Given the description of an element on the screen output the (x, y) to click on. 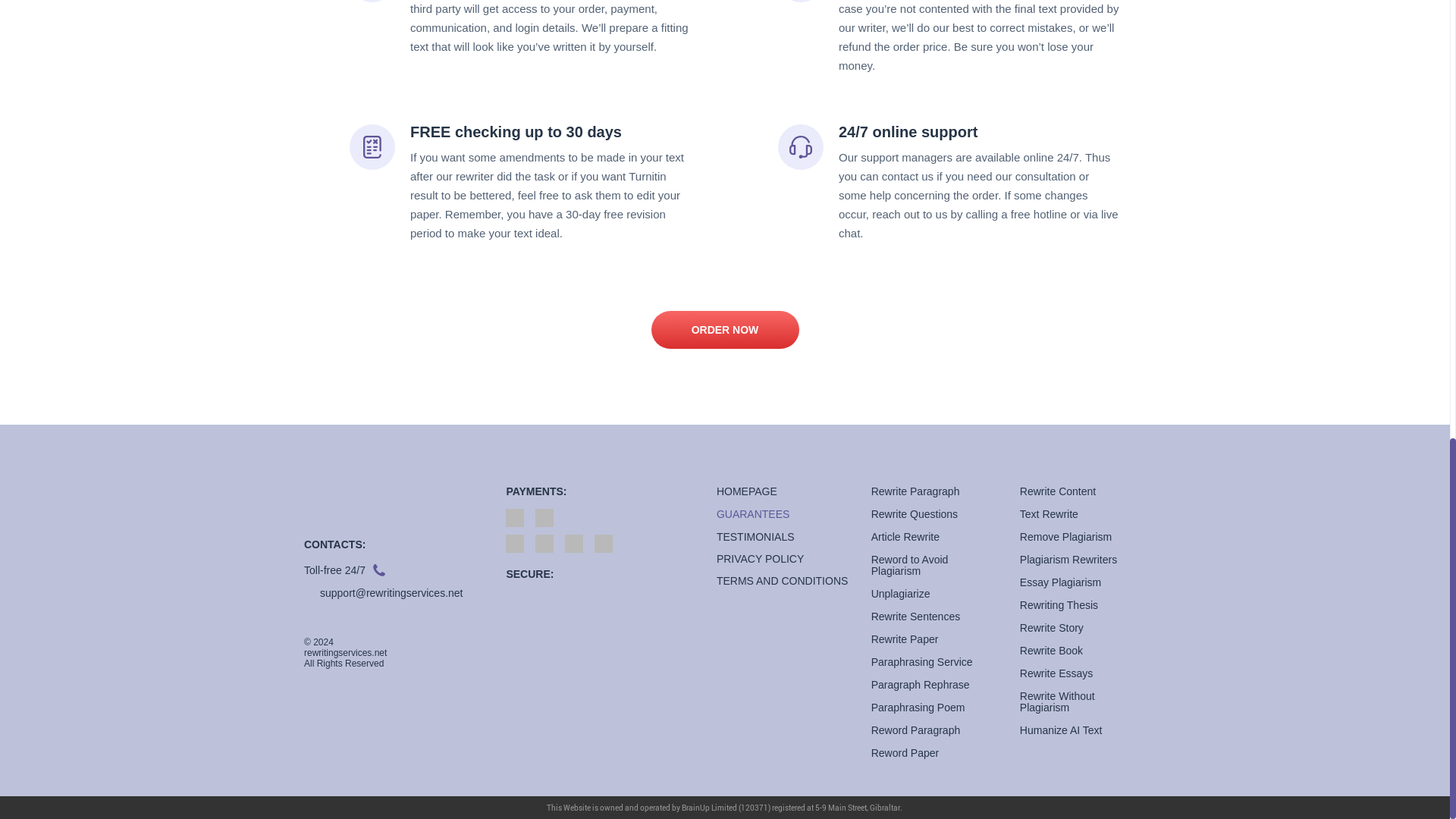
Rewriting Thesis (1058, 604)
Paragraph Rephrase (919, 684)
Text Rewrite (1049, 513)
Unplagiarize (900, 593)
Remove Plagiarism (1066, 536)
HOMEPAGE (746, 491)
Rewrite Sentences (915, 616)
Reword Paragraph (915, 729)
PRIVACY POLICY (781, 558)
TERMS AND CONDITIONS (781, 580)
Rewrite Book (1051, 650)
Plagiarism Rewriters (1068, 559)
Rewrite Content (1058, 491)
Rewrite Questions (914, 513)
Reword Paper (904, 752)
